Given the description of an element on the screen output the (x, y) to click on. 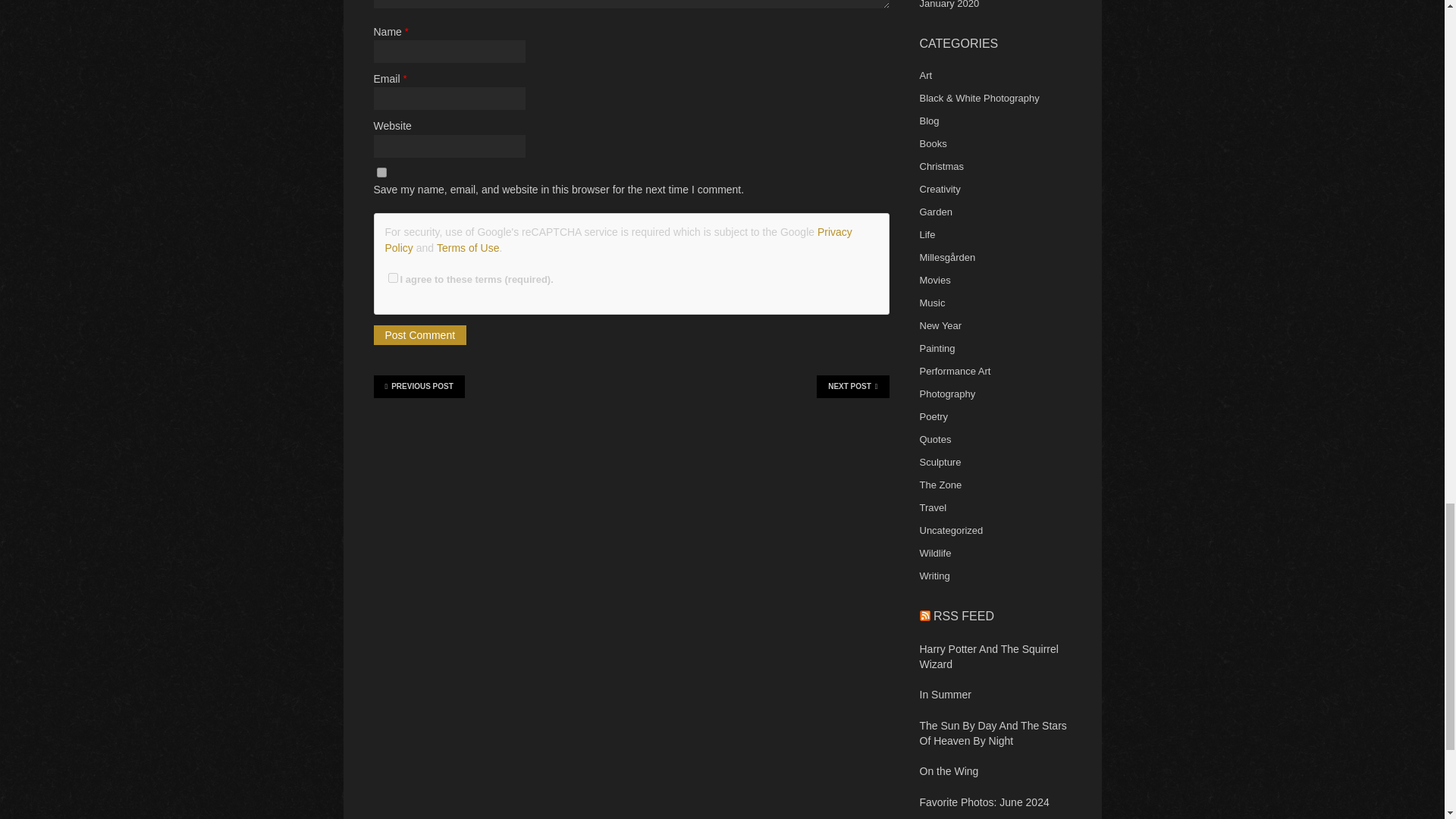
Privacy Policy (618, 239)
Post Comment (418, 334)
Terms of Use (467, 247)
yes (380, 172)
on (392, 277)
